Given the description of an element on the screen output the (x, y) to click on. 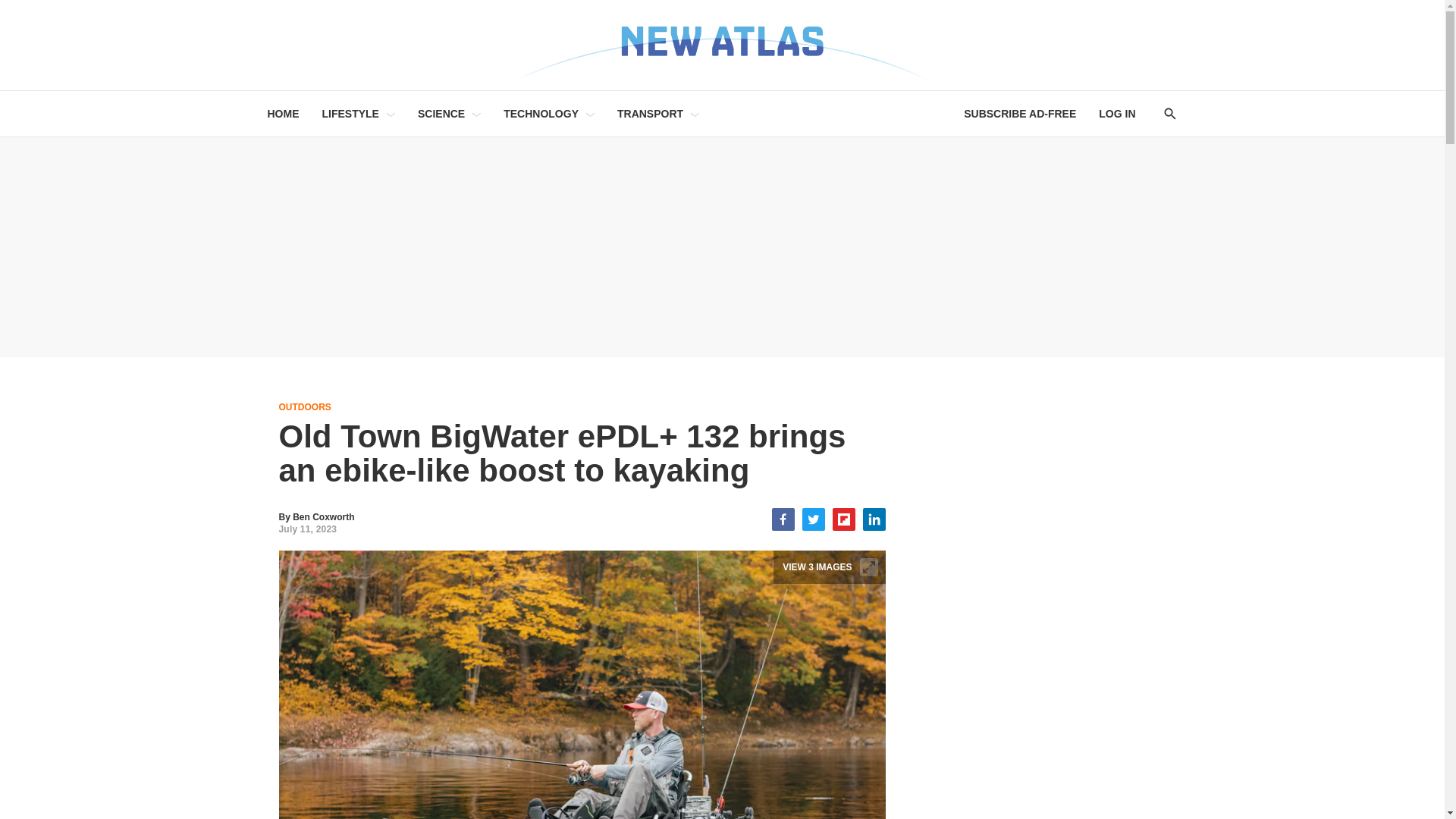
View full-screen (868, 566)
